Given the description of an element on the screen output the (x, y) to click on. 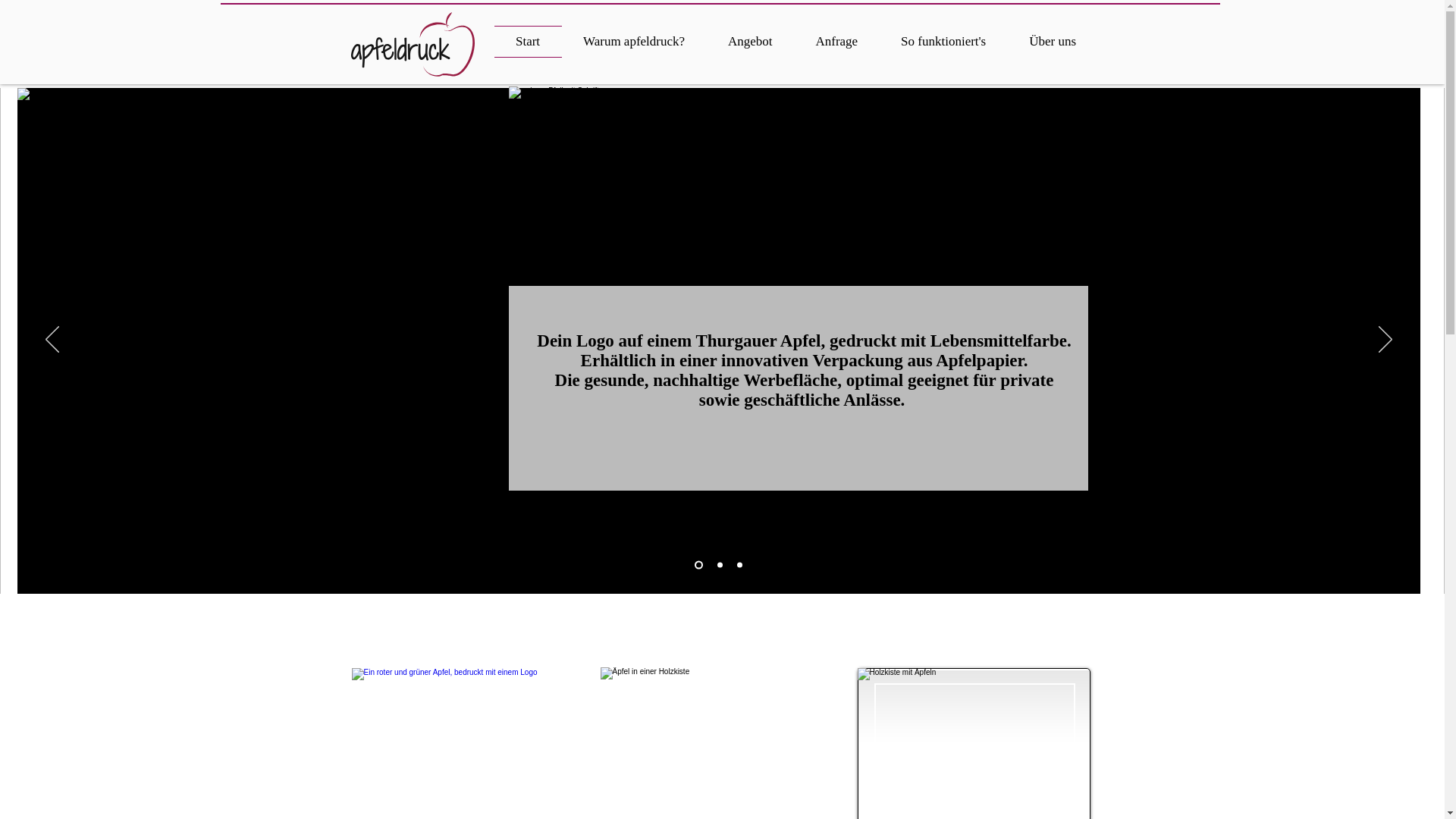
Warum apfeldruck? Element type: text (633, 41)
Start Element type: text (527, 41)
Button Element type: text (737, 683)
Anfrage Element type: text (836, 41)
Angebot Element type: text (749, 41)
So funktioniert's Element type: text (943, 41)
